Given the description of an element on the screen output the (x, y) to click on. 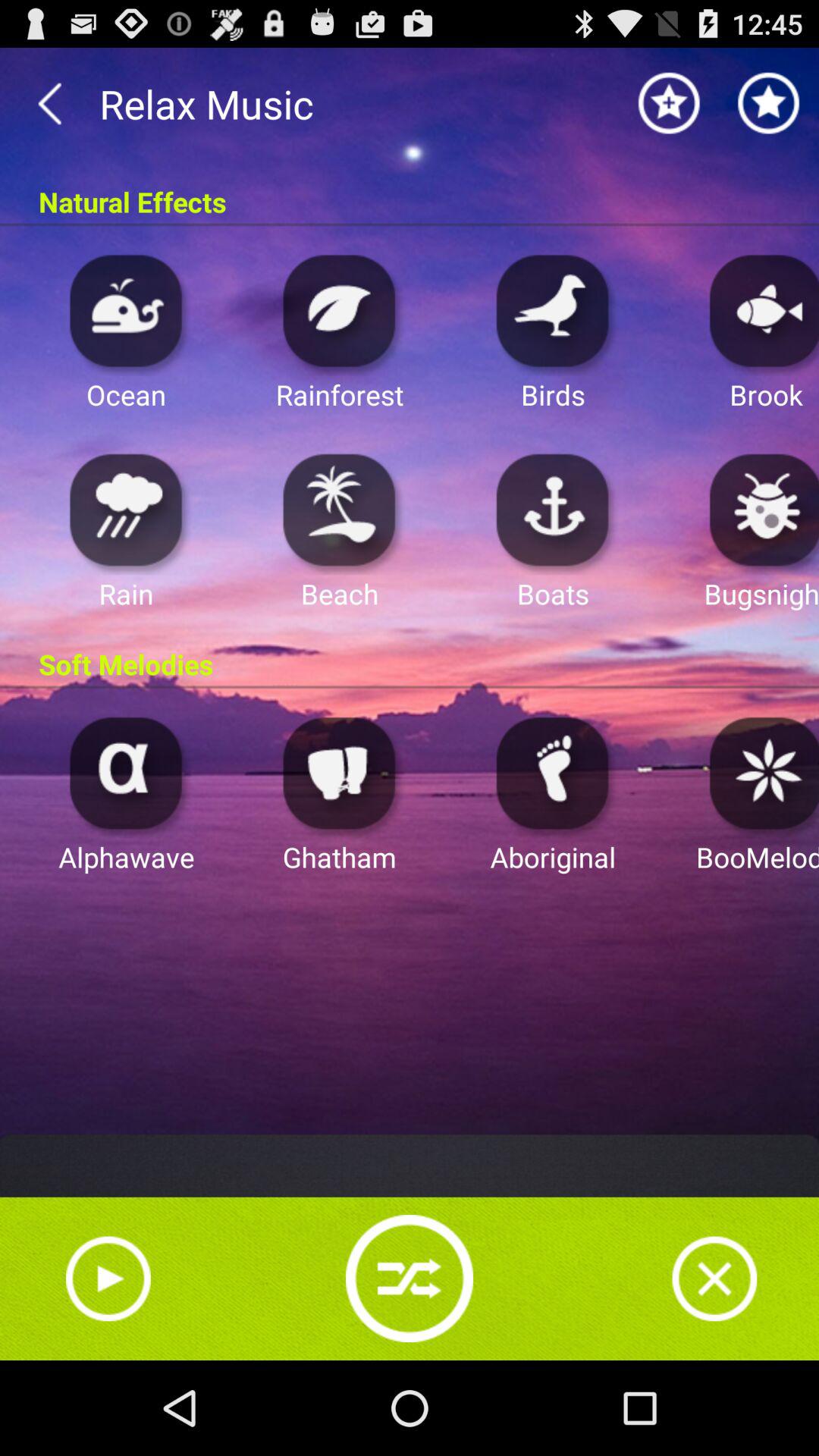
play sound of brook (759, 309)
